Given the description of an element on the screen output the (x, y) to click on. 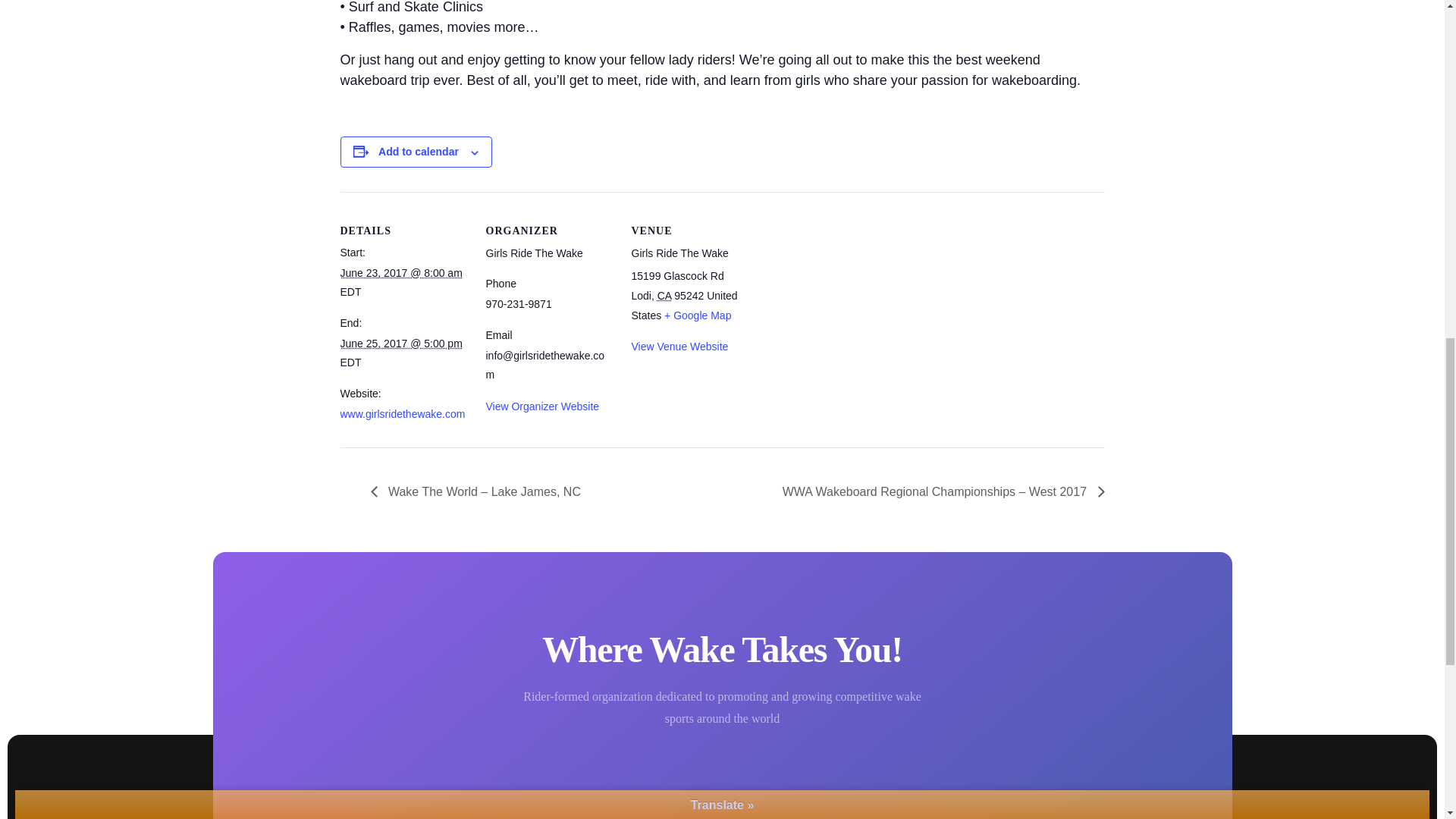
California (664, 295)
2017-06-25 (400, 343)
Click to view a Google Map (696, 315)
2017-06-23 (400, 272)
